Given the description of an element on the screen output the (x, y) to click on. 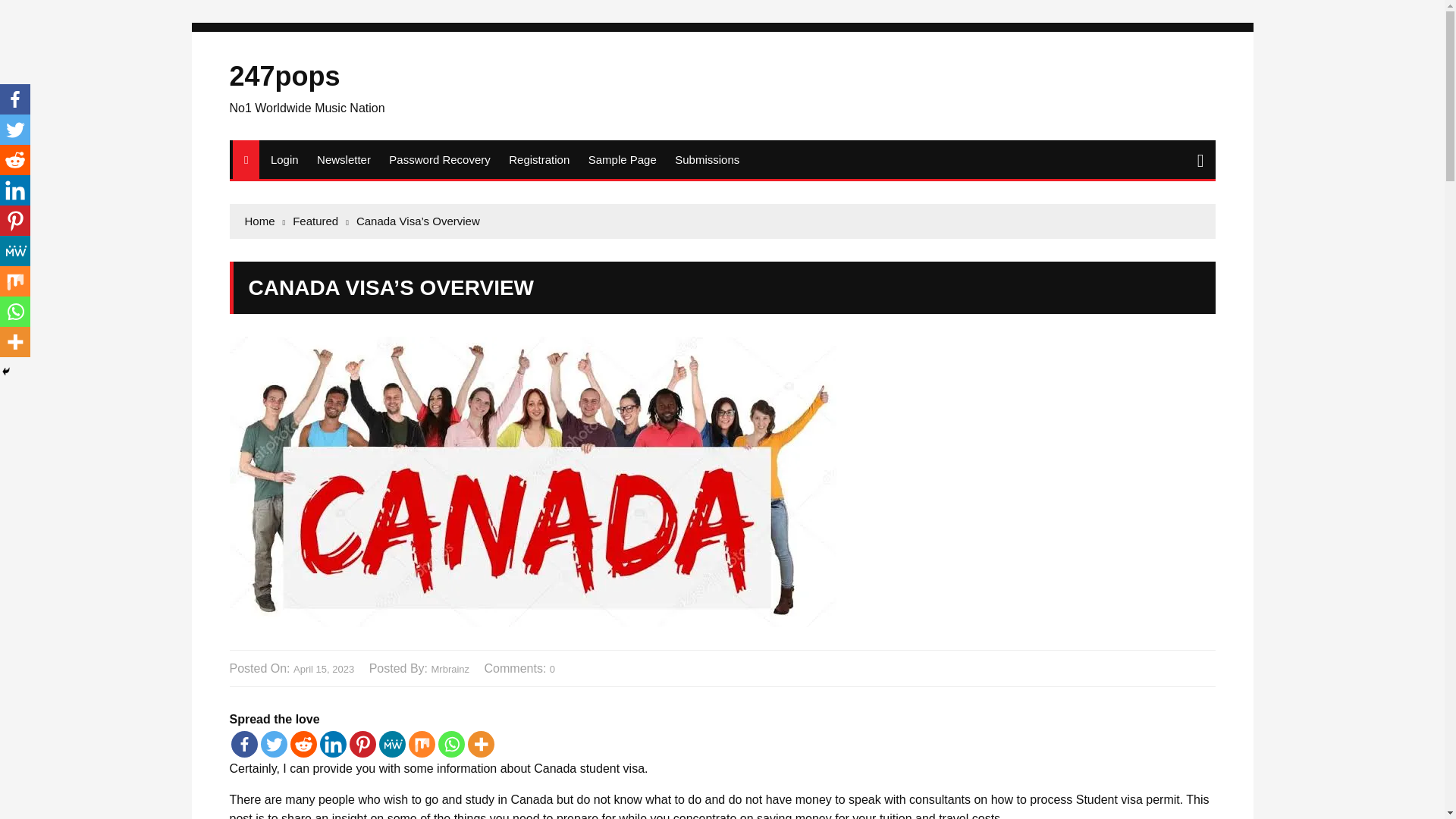
Featured (320, 221)
Login (284, 159)
Newsletter (343, 159)
Password Recovery (439, 159)
April 15, 2023 (323, 669)
Twitter (273, 744)
Linkedin (333, 744)
Mrbrainz (450, 669)
Sample Page (621, 159)
Reddit (302, 744)
Whatsapp (451, 744)
Home (264, 221)
247pops (283, 75)
Facebook (243, 744)
MeWe (392, 744)
